Given the description of an element on the screen output the (x, y) to click on. 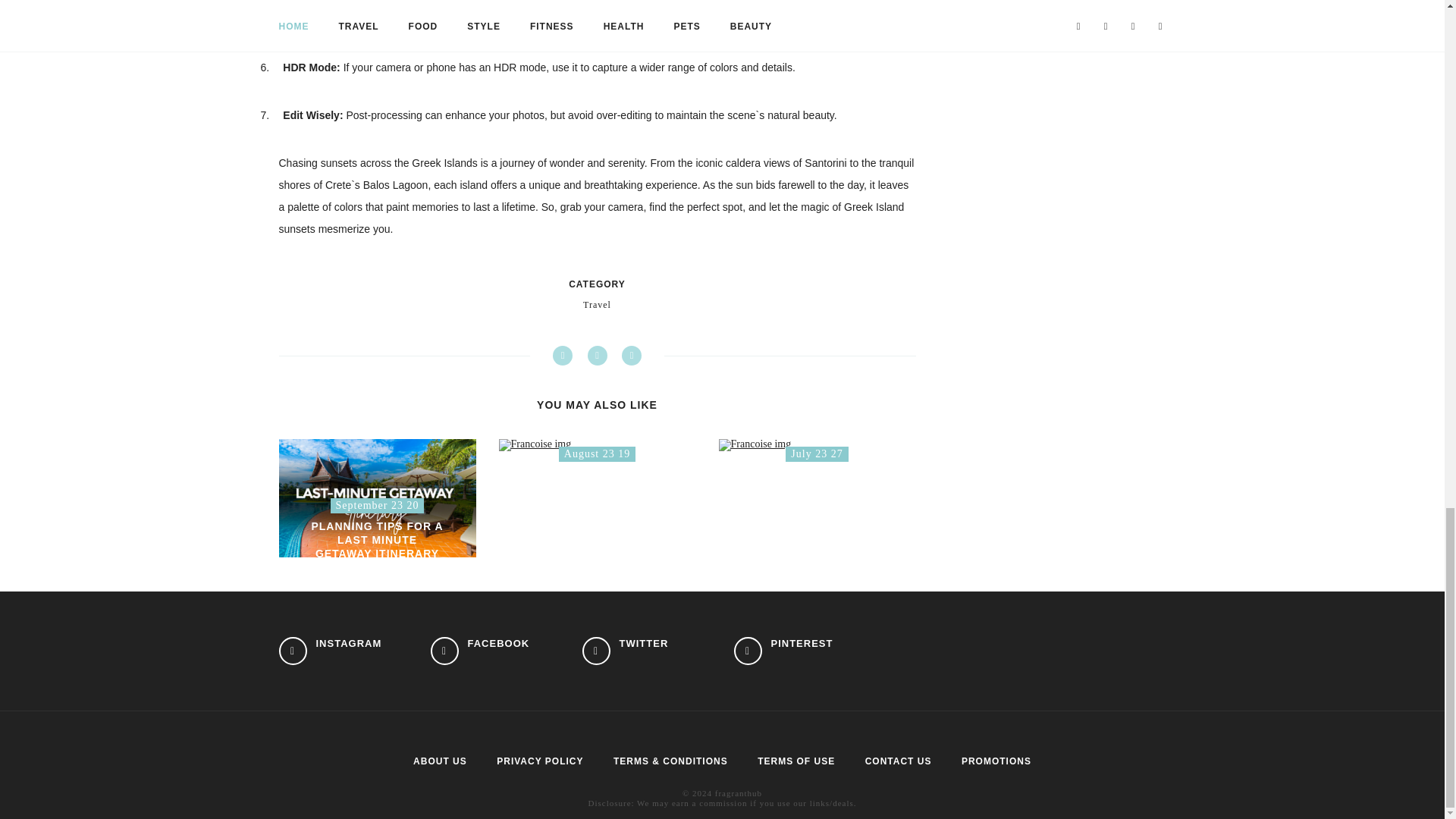
Travel (597, 304)
ABOUT US (440, 760)
PINTEREST (782, 651)
TWITTER (625, 651)
INSTAGRAM (817, 444)
PRIVACY POLICY (330, 651)
FACEBOOK (539, 760)
